Given the description of an element on the screen output the (x, y) to click on. 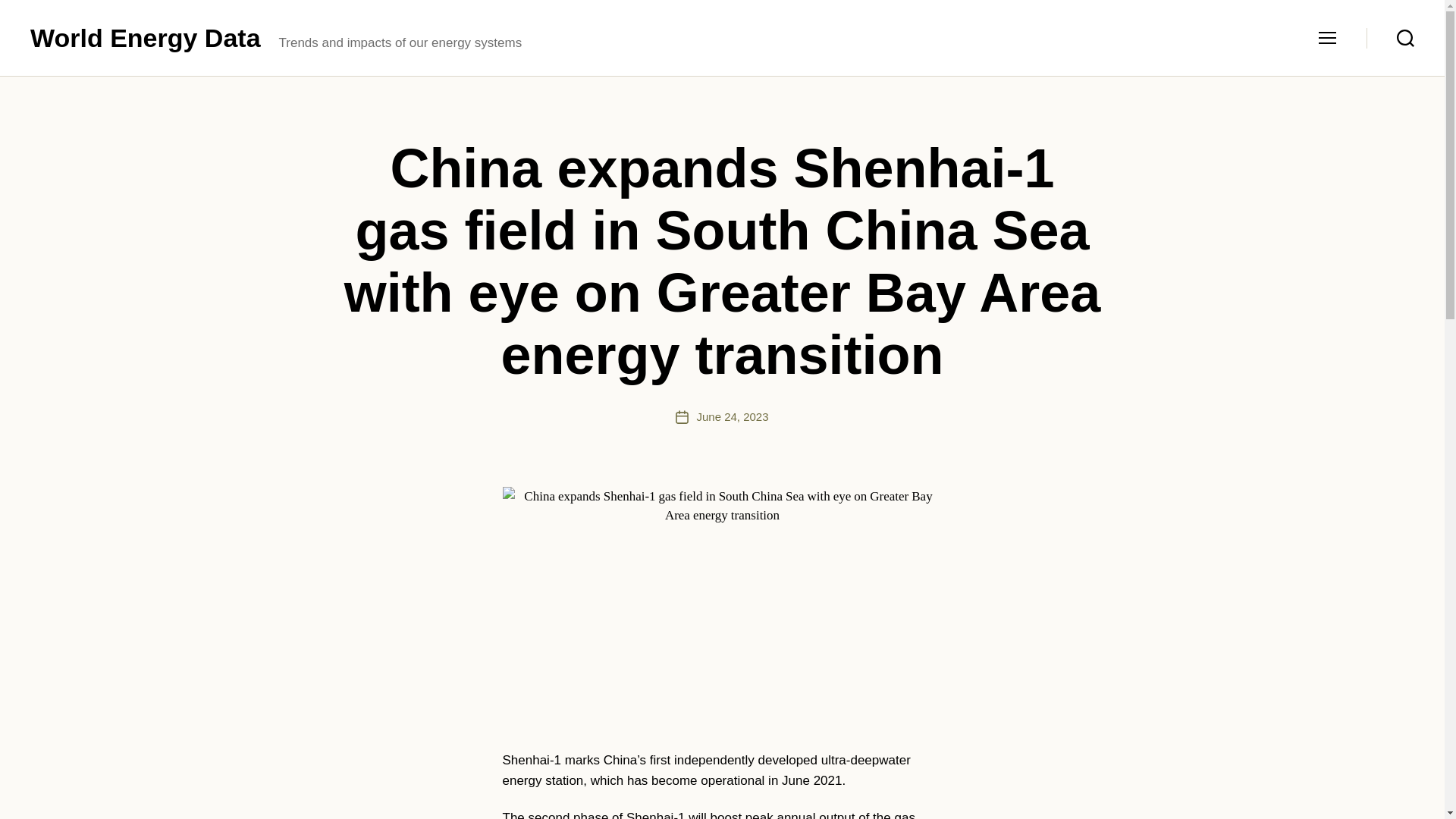
Menu (1327, 37)
World Energy Data (145, 37)
